Given the description of an element on the screen output the (x, y) to click on. 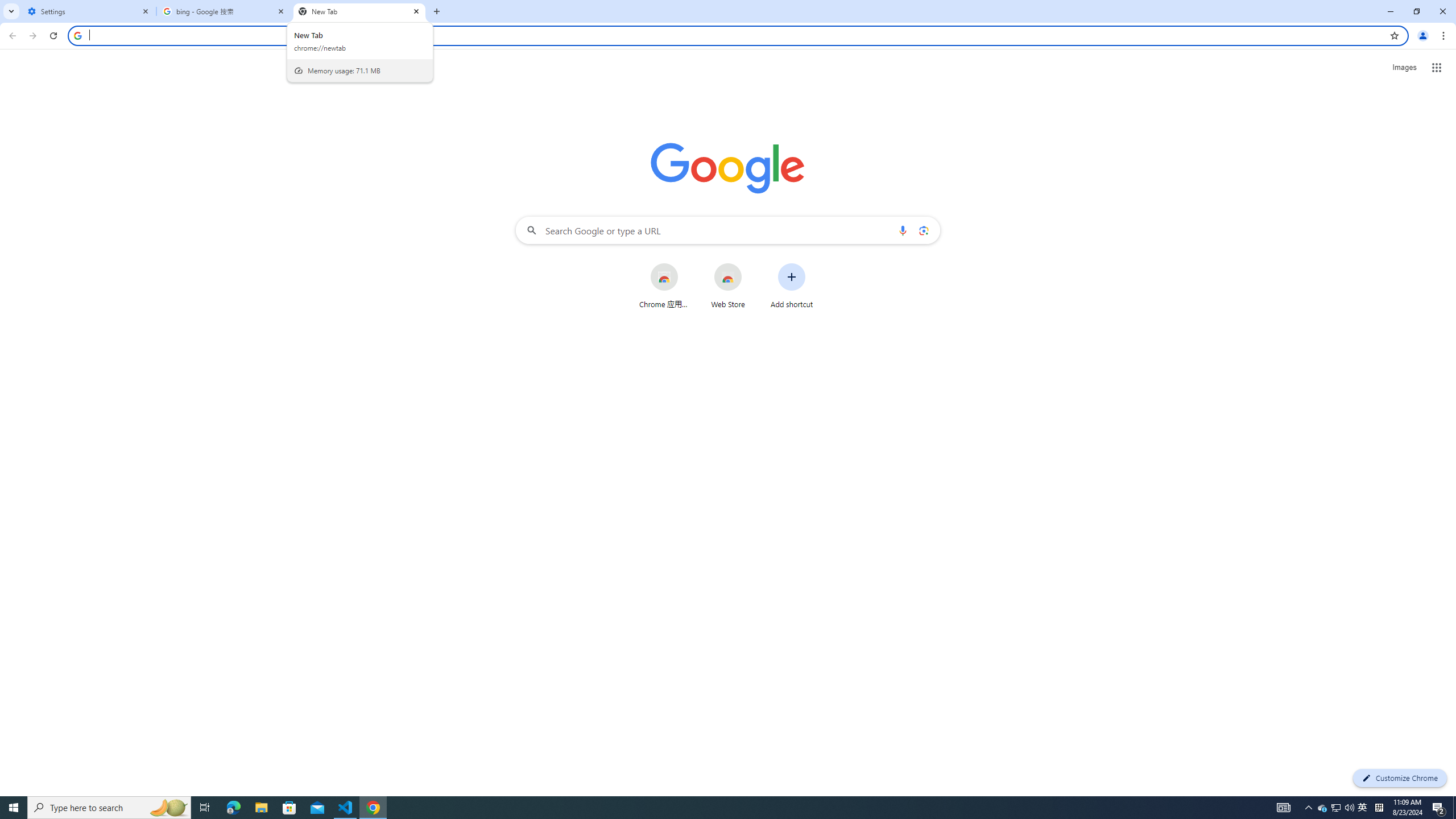
Search Google or type a URL (727, 230)
Settings (88, 11)
Web Store (727, 285)
